Given the description of an element on the screen output the (x, y) to click on. 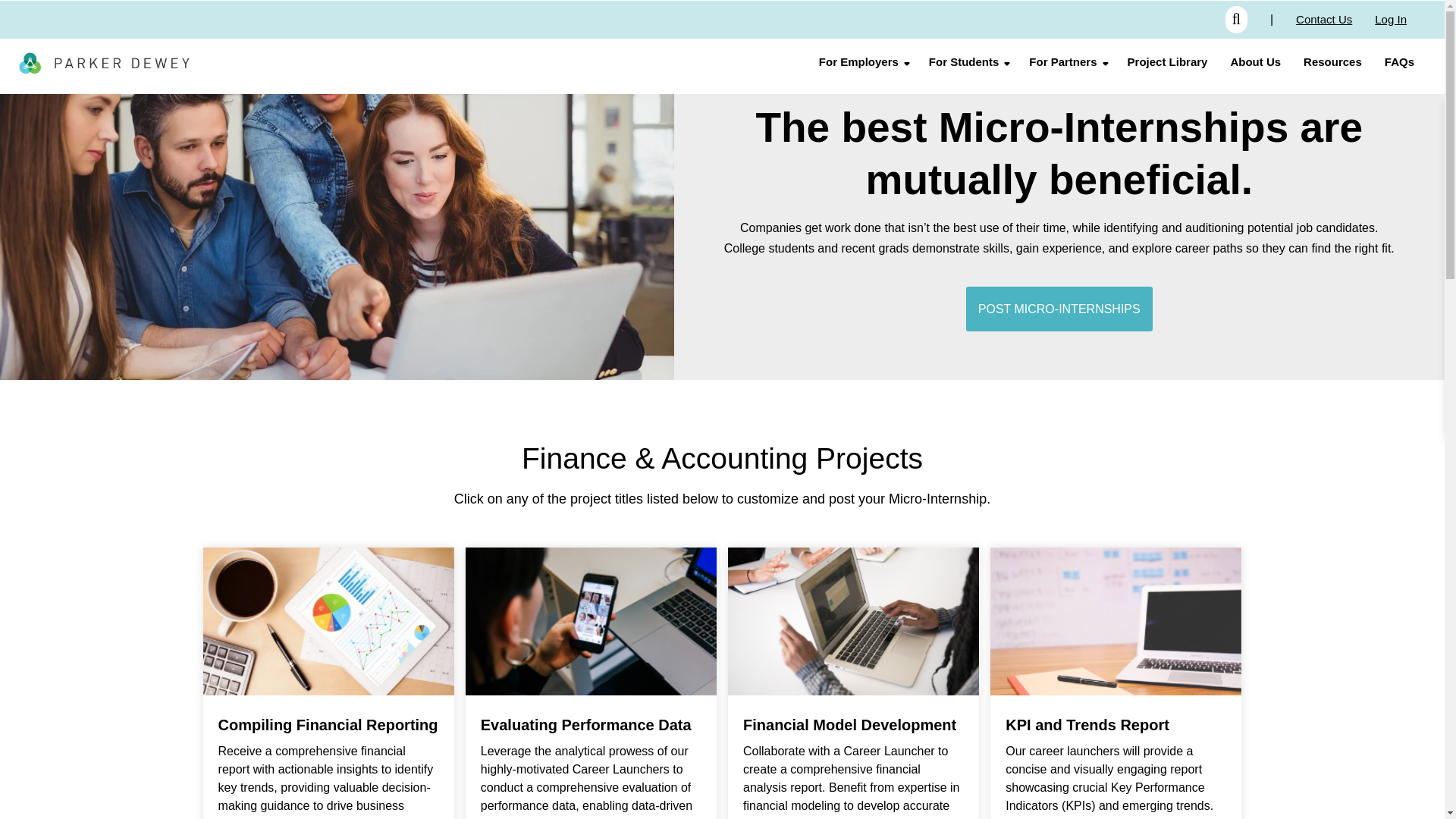
Log In (1390, 19)
For Partners (1062, 61)
Project Library (1167, 61)
For Students (963, 61)
Resources (1332, 61)
For Employers (858, 61)
FAQs (1398, 61)
Parker Dewey Micro-Internships (103, 63)
About Us (1255, 61)
Contact Us (1323, 19)
